Given the description of an element on the screen output the (x, y) to click on. 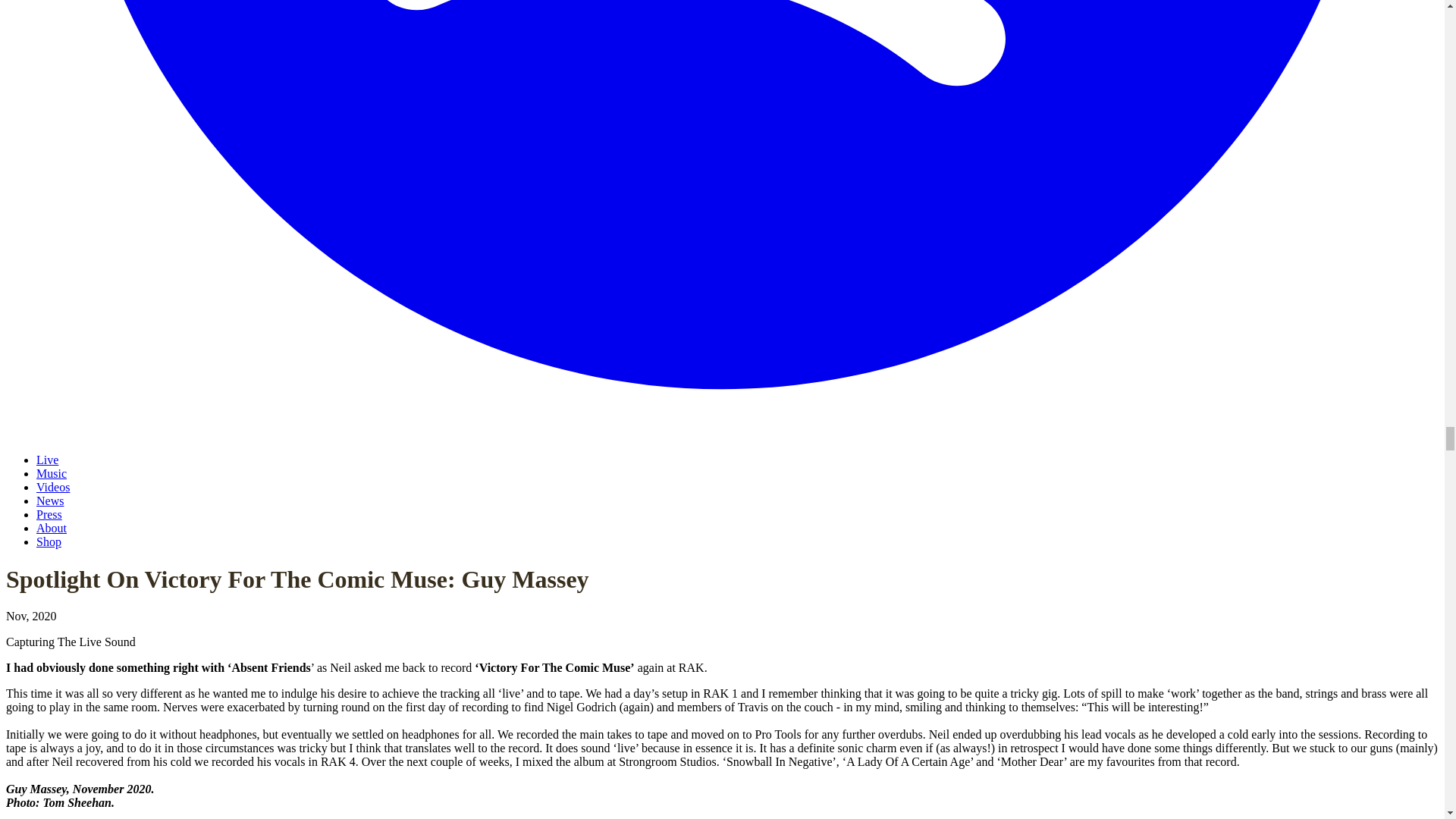
Music (51, 472)
Press (49, 513)
Live (47, 459)
About (51, 527)
Shop (48, 541)
Videos (52, 486)
News (50, 500)
